Given the description of an element on the screen output the (x, y) to click on. 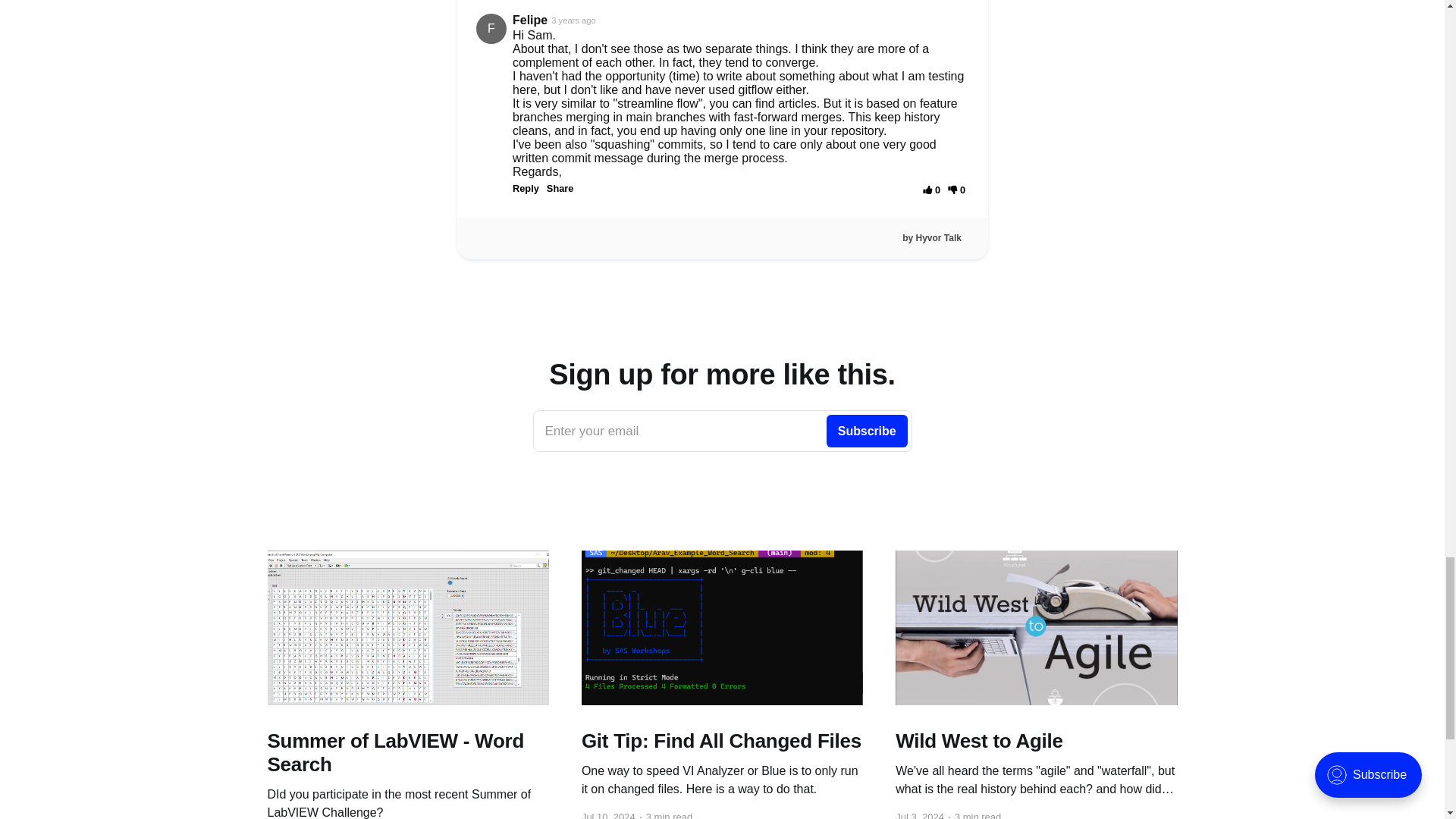
Git Tip: Find All Changed Files (721, 430)
Summer of LabVIEW - Word Search (721, 740)
Wild West to Agile (407, 752)
